Given the description of an element on the screen output the (x, y) to click on. 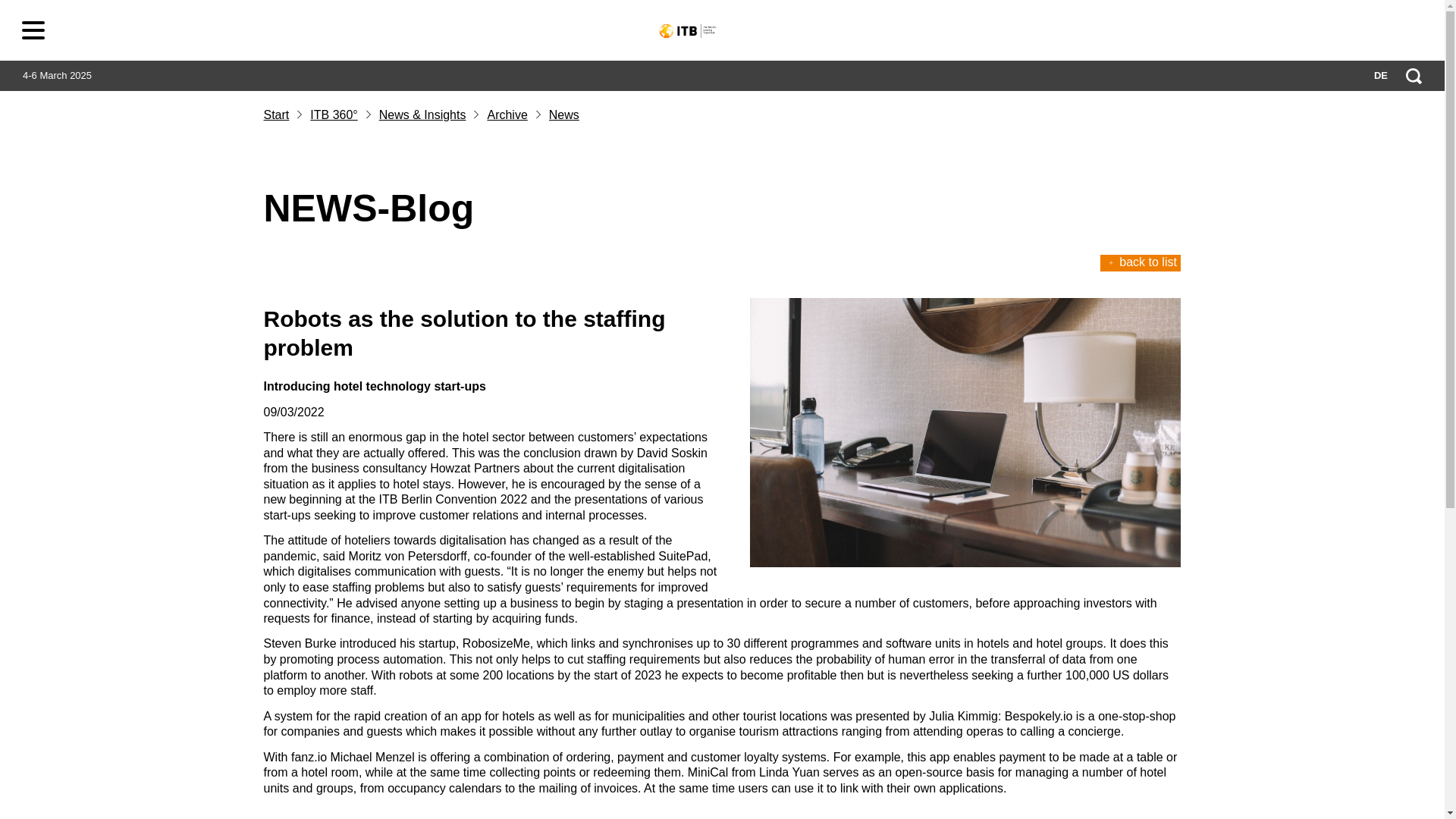
To Main Content (36, 26)
